Given the description of an element on the screen output the (x, y) to click on. 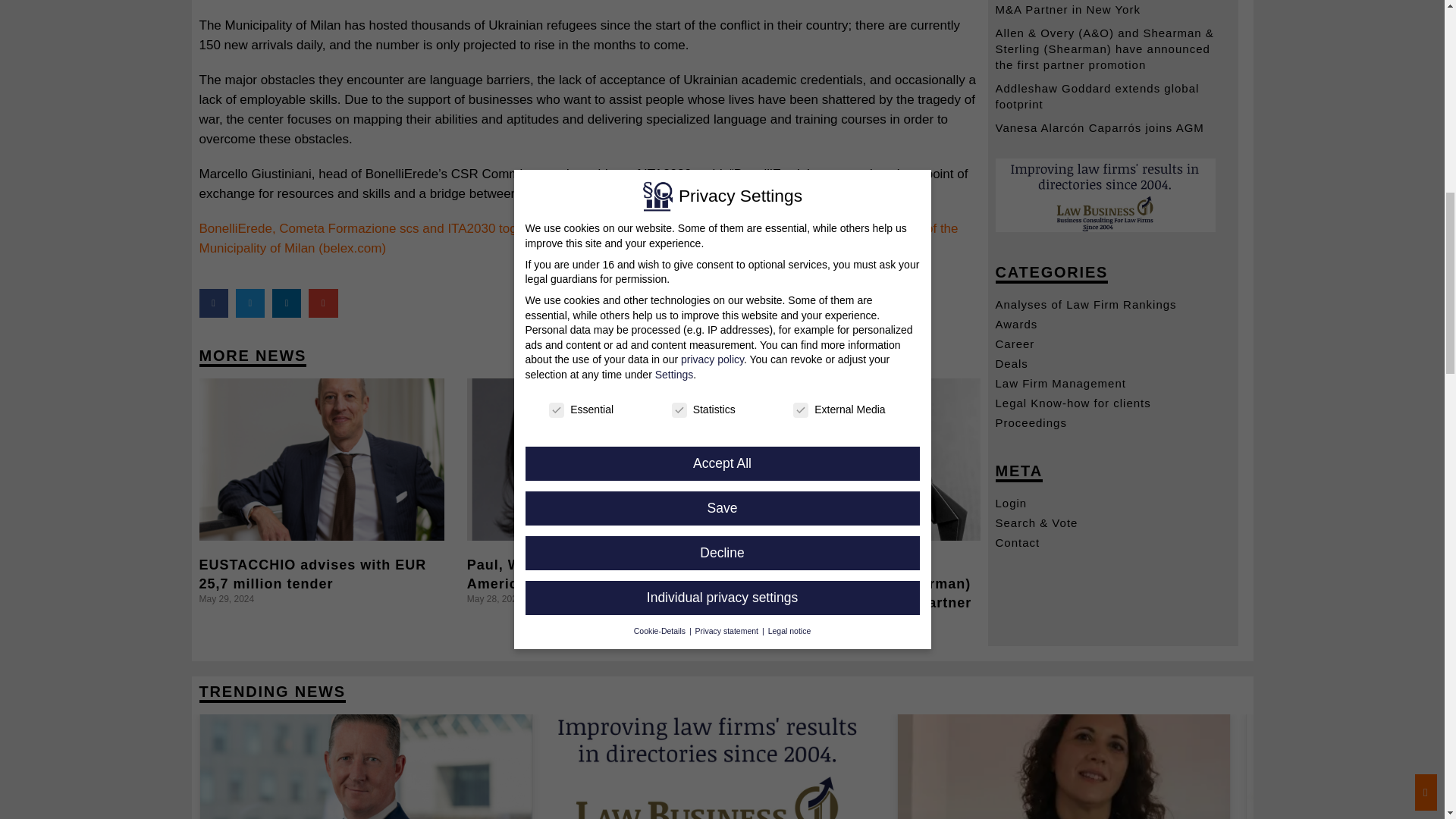
Analyses of Law Firm Rankings (1112, 304)
Addleshaw Goddard extends global footprint (1096, 95)
EUSTACCHIO advises with EUR 25,7 million tender (312, 574)
